Given the description of an element on the screen output the (x, y) to click on. 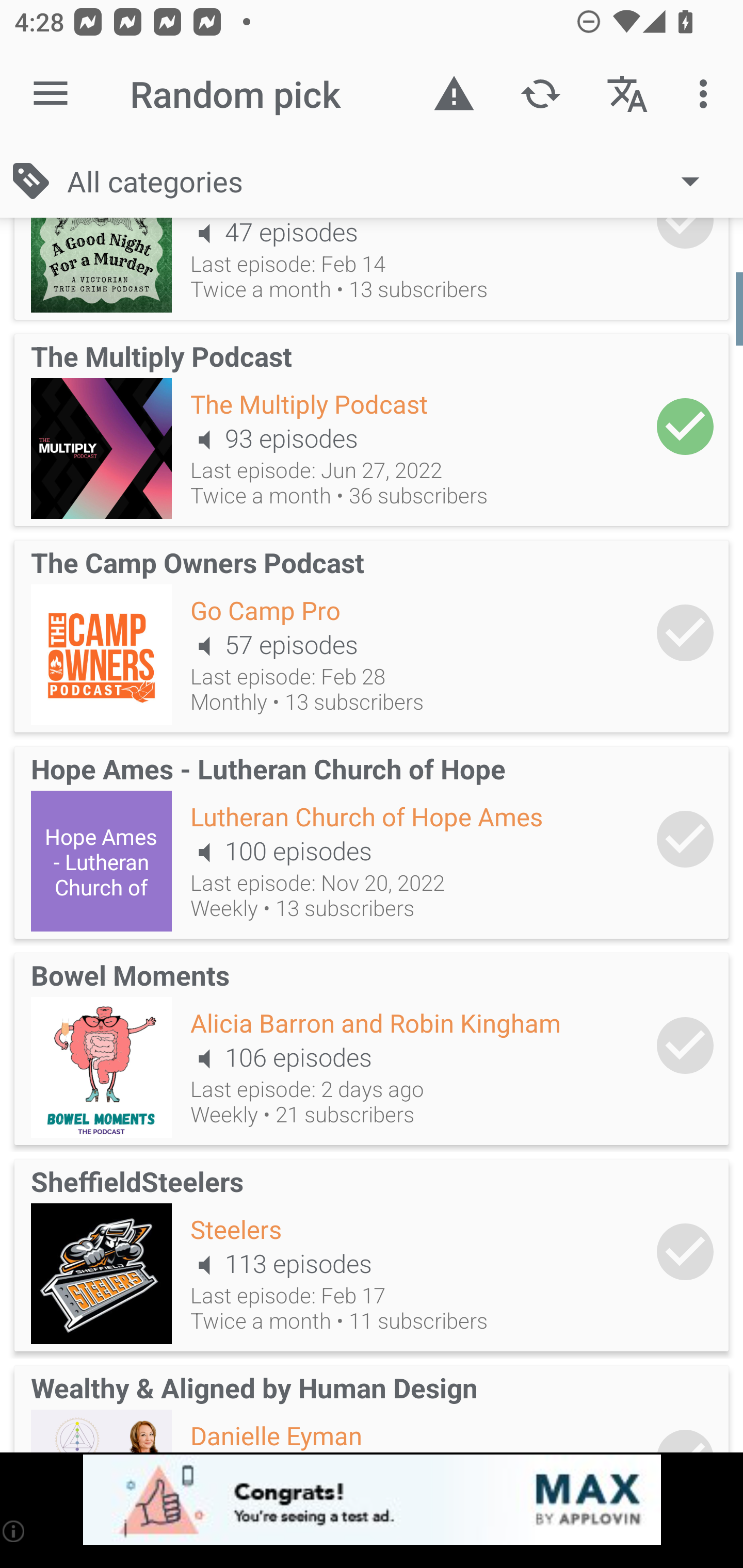
Open navigation sidebar (50, 93)
Report inappropriate content (453, 93)
Update top podcasts list (540, 93)
Podcast languages (626, 93)
More options (706, 93)
All categories (393, 180)
Add (684, 426)
Add (684, 632)
Add (684, 839)
Add (684, 1044)
Add (684, 1251)
app-monetization (371, 1500)
(i) (14, 1531)
